Given the description of an element on the screen output the (x, y) to click on. 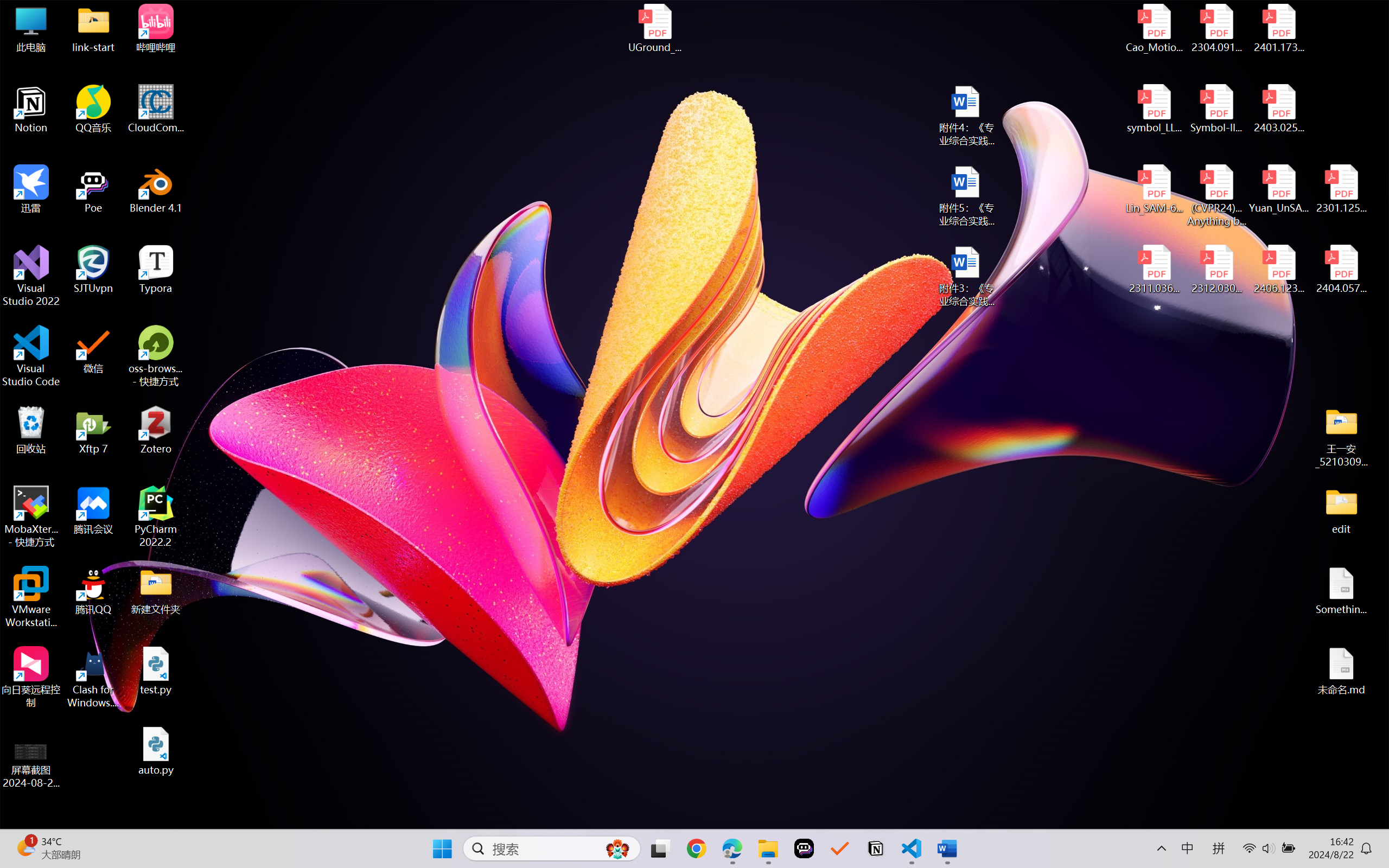
2406.12373v2.pdf (1278, 269)
(CVPR24)Matching Anything by Segmenting Anything.pdf (1216, 195)
Something.md (1340, 591)
2312.03032v2.pdf (1216, 269)
